Given the description of an element on the screen output the (x, y) to click on. 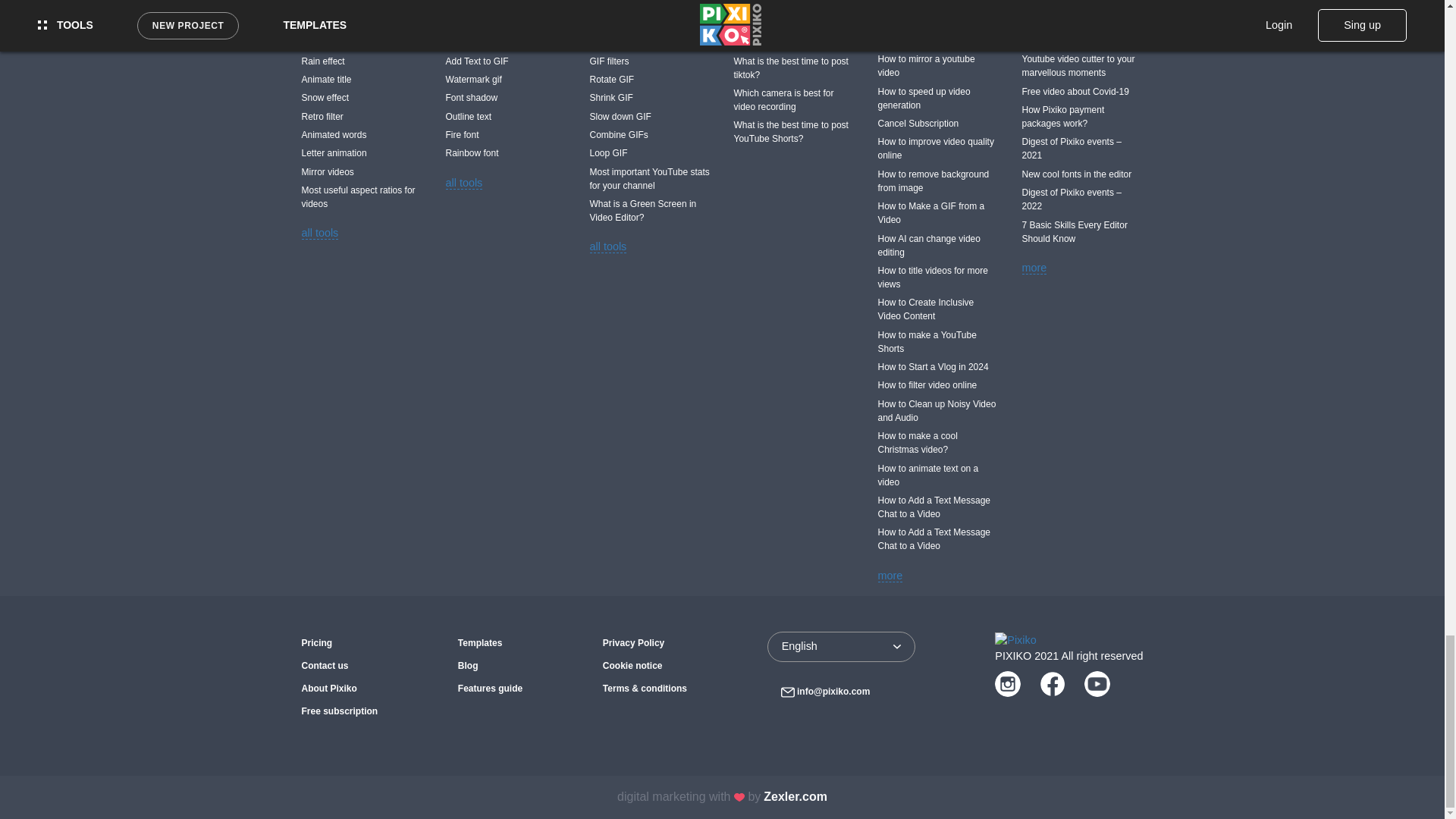
Pixiko in facebook (1052, 683)
To home page (1014, 639)
Pixiko in instagram (1007, 683)
to email pixiko (825, 691)
Pixiko in youtube (1096, 683)
